Given the description of an element on the screen output the (x, y) to click on. 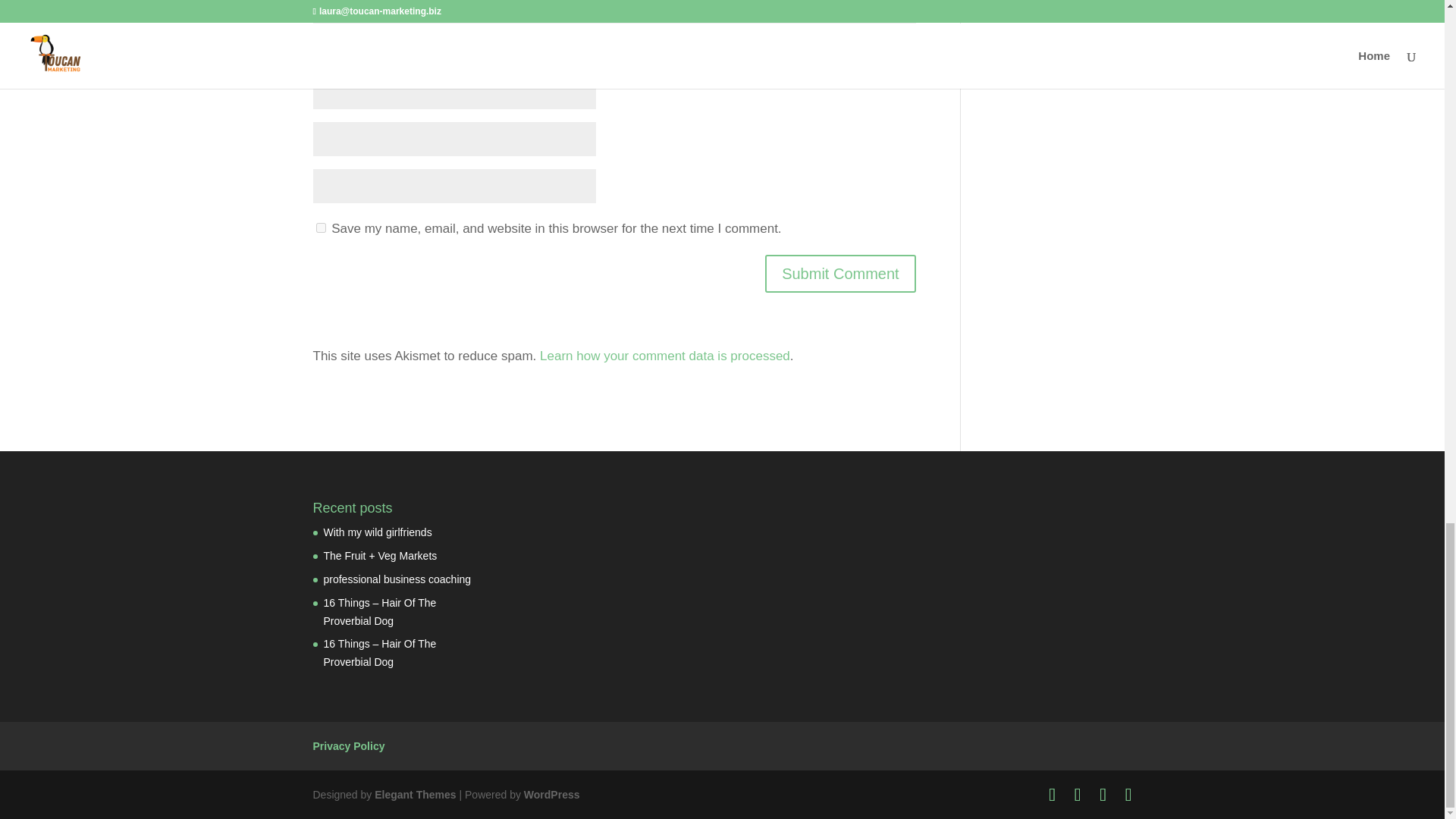
WordPress (551, 794)
Elegant Themes (414, 794)
Privacy Policy (348, 746)
professional business coaching (396, 579)
yes (319, 227)
Premium WordPress Themes (414, 794)
Submit Comment (840, 273)
Learn how your comment data is processed (665, 355)
With my wild girlfriends (376, 532)
Submit Comment (840, 273)
